Given the description of an element on the screen output the (x, y) to click on. 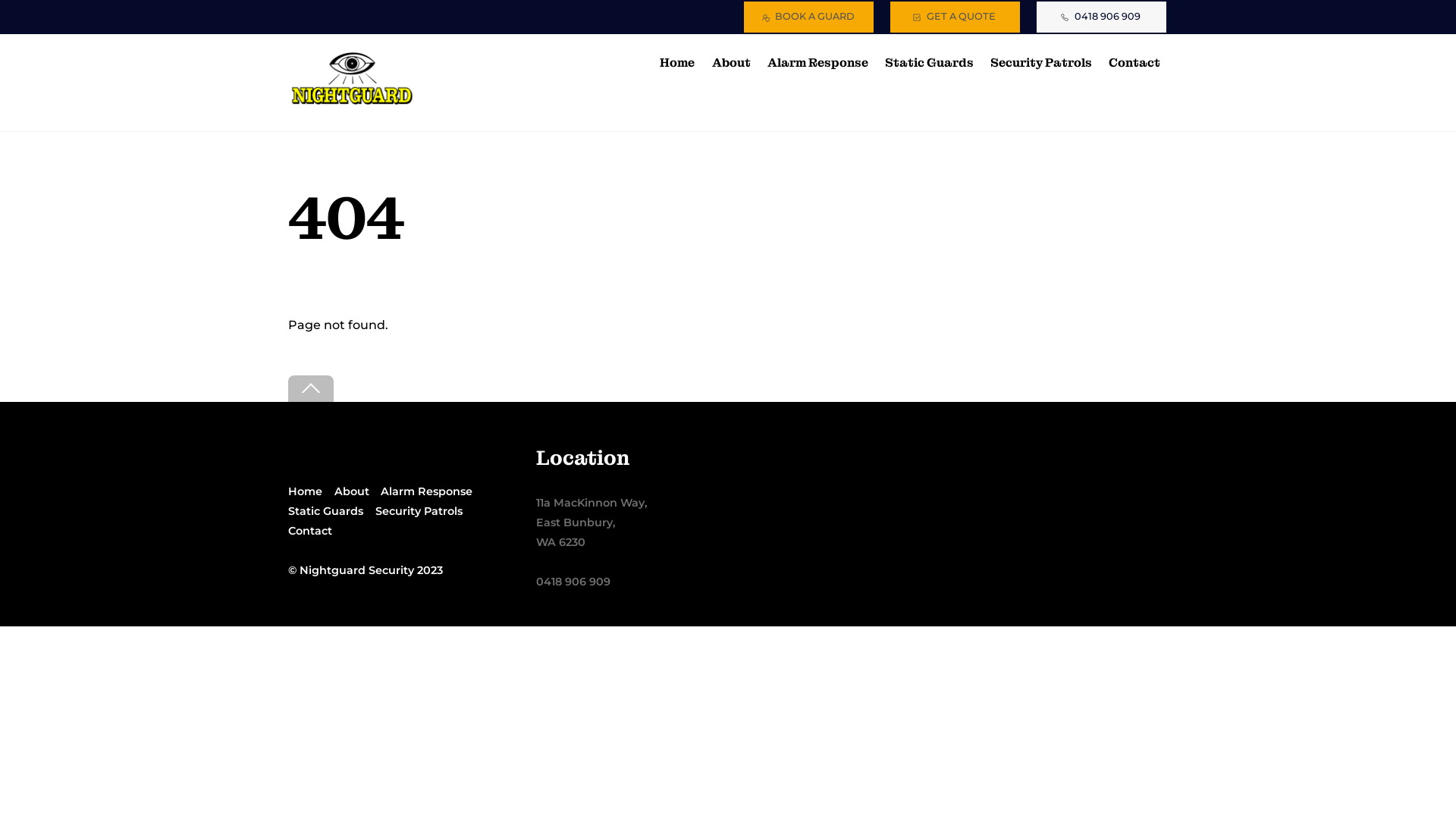
0418 906 909 Element type: text (1101, 17)
About Element type: text (351, 491)
About Element type: text (730, 62)
Alarm Response Element type: text (426, 491)
Alarm Response Element type: text (817, 62)
GET A QUOTE Element type: text (954, 17)
Static Guards Element type: text (928, 62)
Contact Element type: text (310, 530)
Home Element type: text (305, 491)
Static Guards Element type: text (325, 510)
Nightguard Security Element type: hover (352, 101)
Back To Top Element type: text (310, 388)
Nightguard Security Element type: text (356, 570)
BOOK A GUARD Element type: text (808, 17)
Logo Element type: hover (352, 79)
Home Element type: text (677, 62)
Security Patrols Element type: text (1041, 62)
Security Patrols Element type: text (418, 510)
Contact Element type: text (1134, 62)
